Given the description of an element on the screen output the (x, y) to click on. 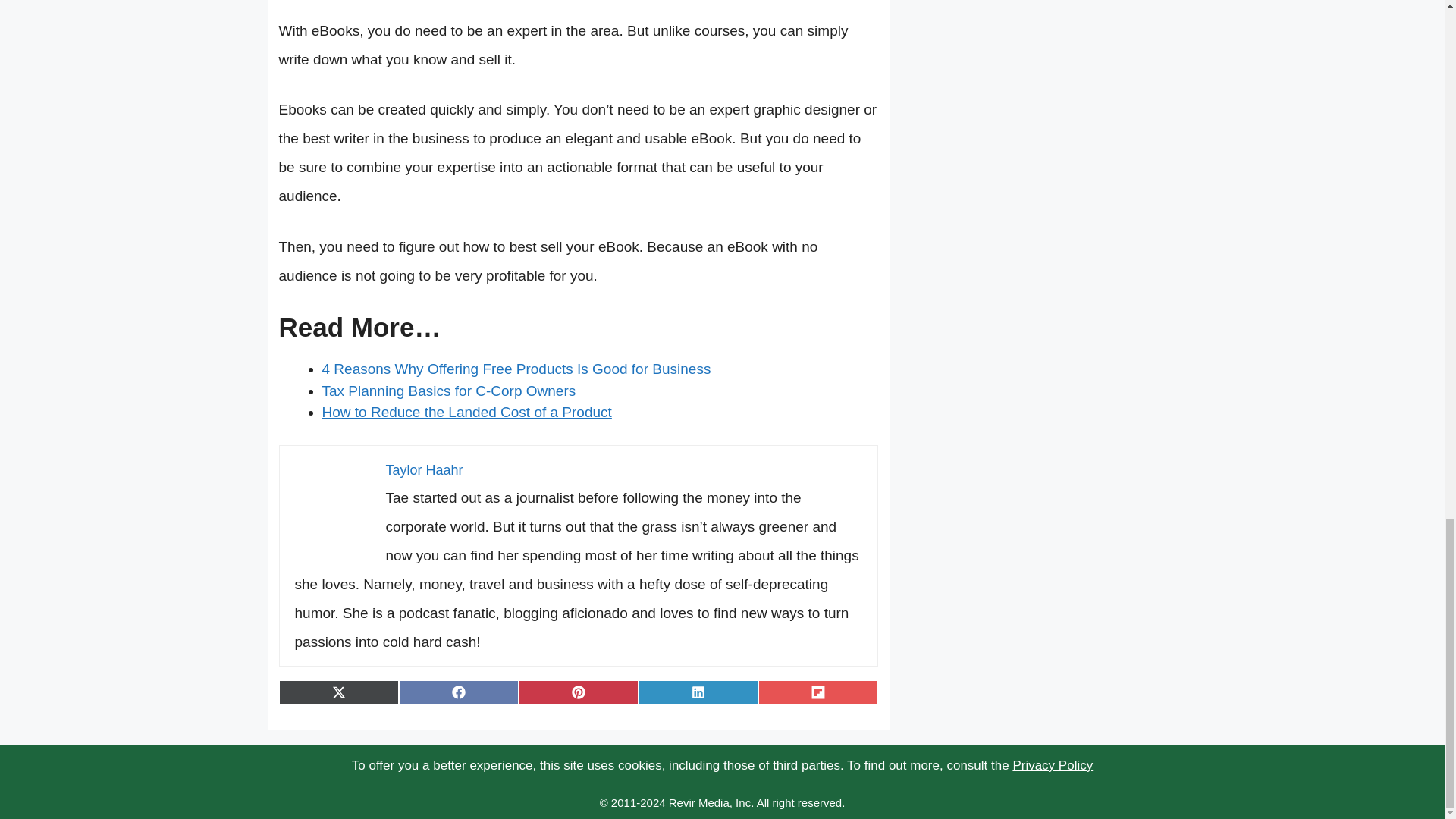
Taylor Haahr (424, 469)
Share on Facebook (458, 692)
Share on Pinterest (578, 692)
Scroll back to top (1406, 101)
Share on Flip it (817, 692)
Tax Planning Basics for C-Corp Owners (448, 390)
How to Reduce the Landed Cost of a Product (466, 412)
Share on LinkedIn (698, 692)
4 Reasons Why Offering Free Products Is Good for Business (515, 368)
